Given the description of an element on the screen output the (x, y) to click on. 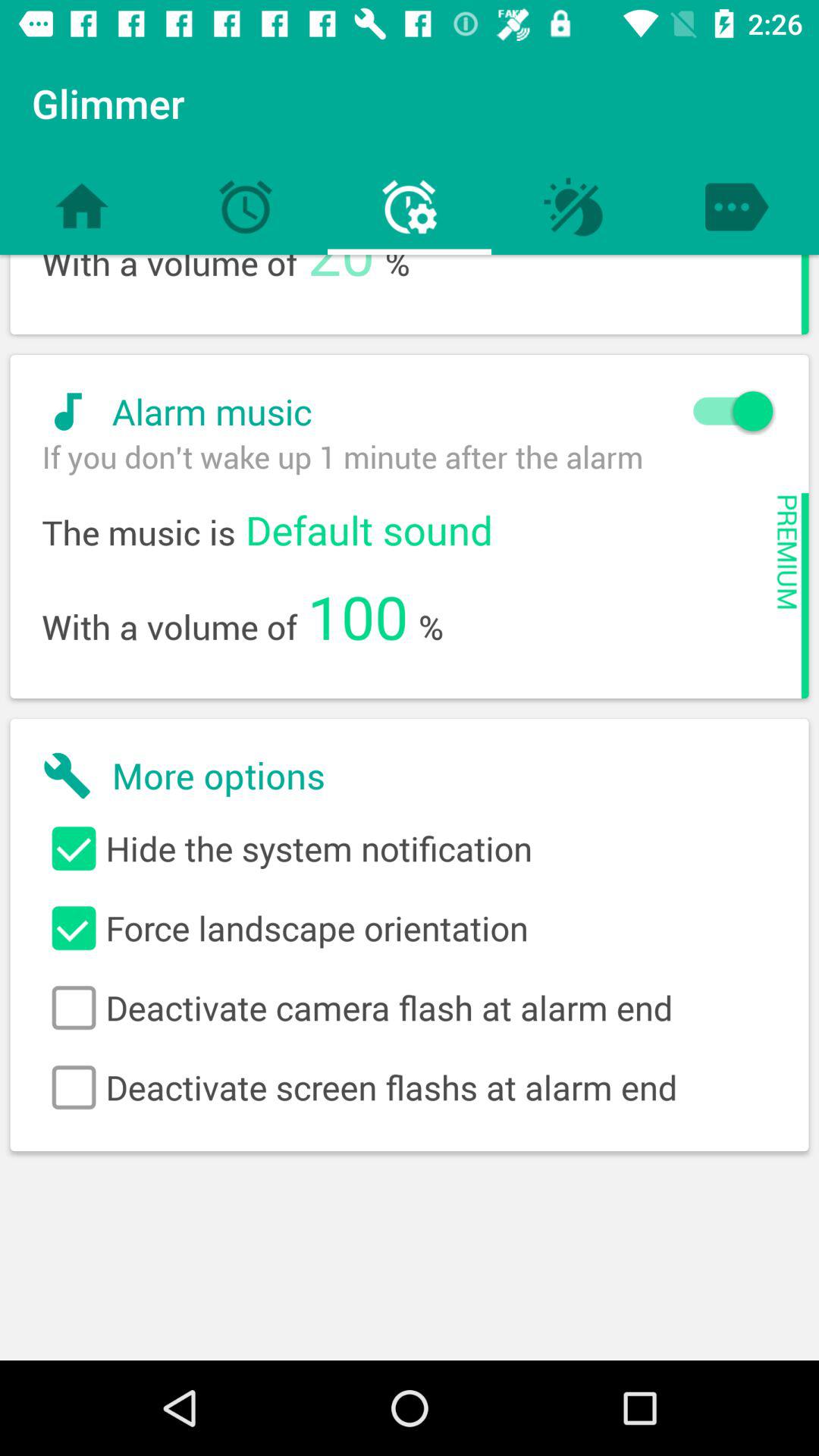
press hide the system (409, 848)
